Given the description of an element on the screen output the (x, y) to click on. 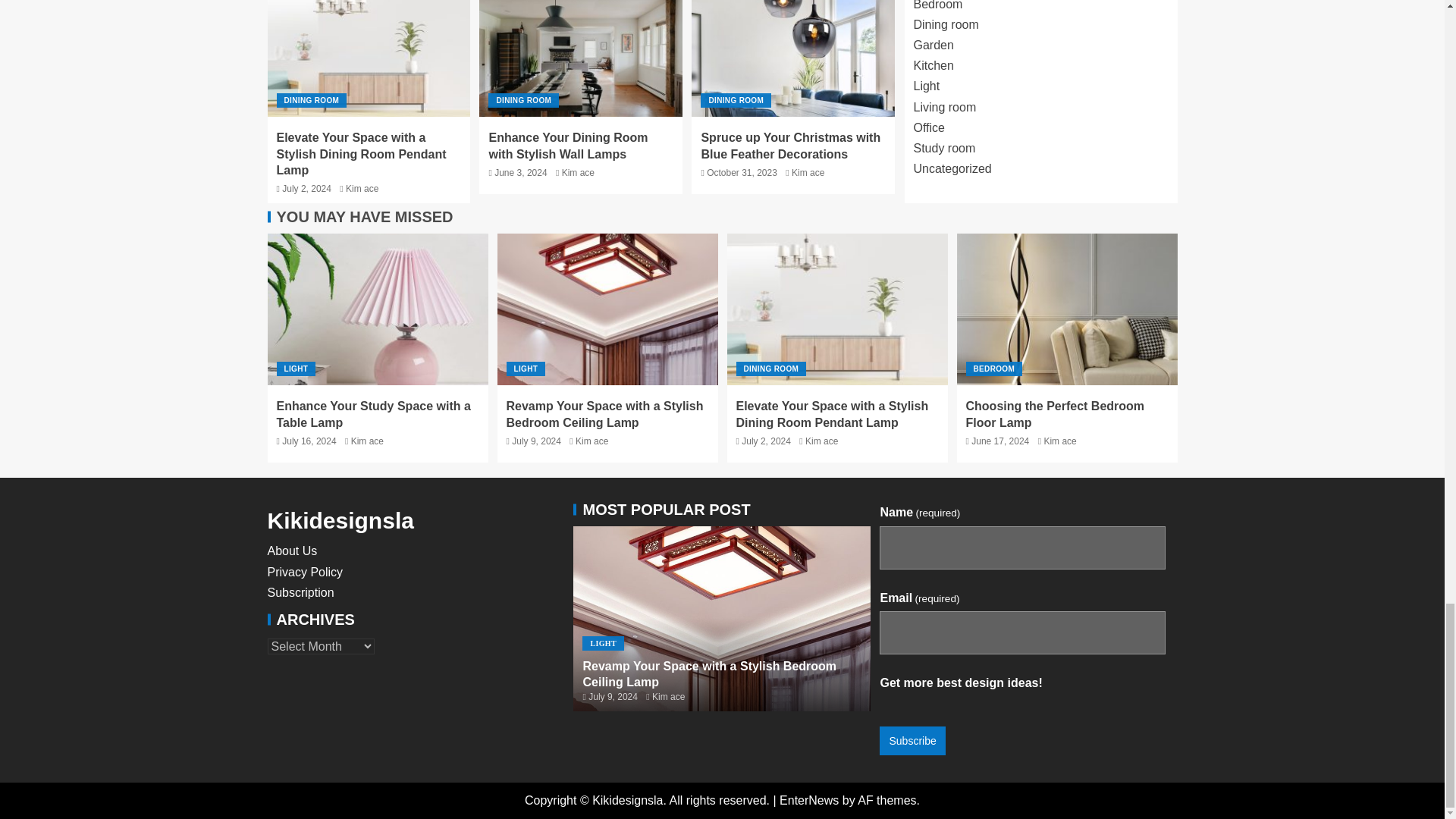
DINING ROOM (523, 100)
Kim ace (808, 172)
Elevate Your Space with a Stylish Dining Room Pendant Lamp (360, 153)
Kim ace (578, 172)
Enhance Your Dining Room with Stylish Wall Lamps (567, 145)
Kim ace (362, 188)
Spruce up Your Christmas with Blue Feather Decorations (790, 145)
DINING ROOM (735, 100)
DINING ROOM (311, 100)
